Given the description of an element on the screen output the (x, y) to click on. 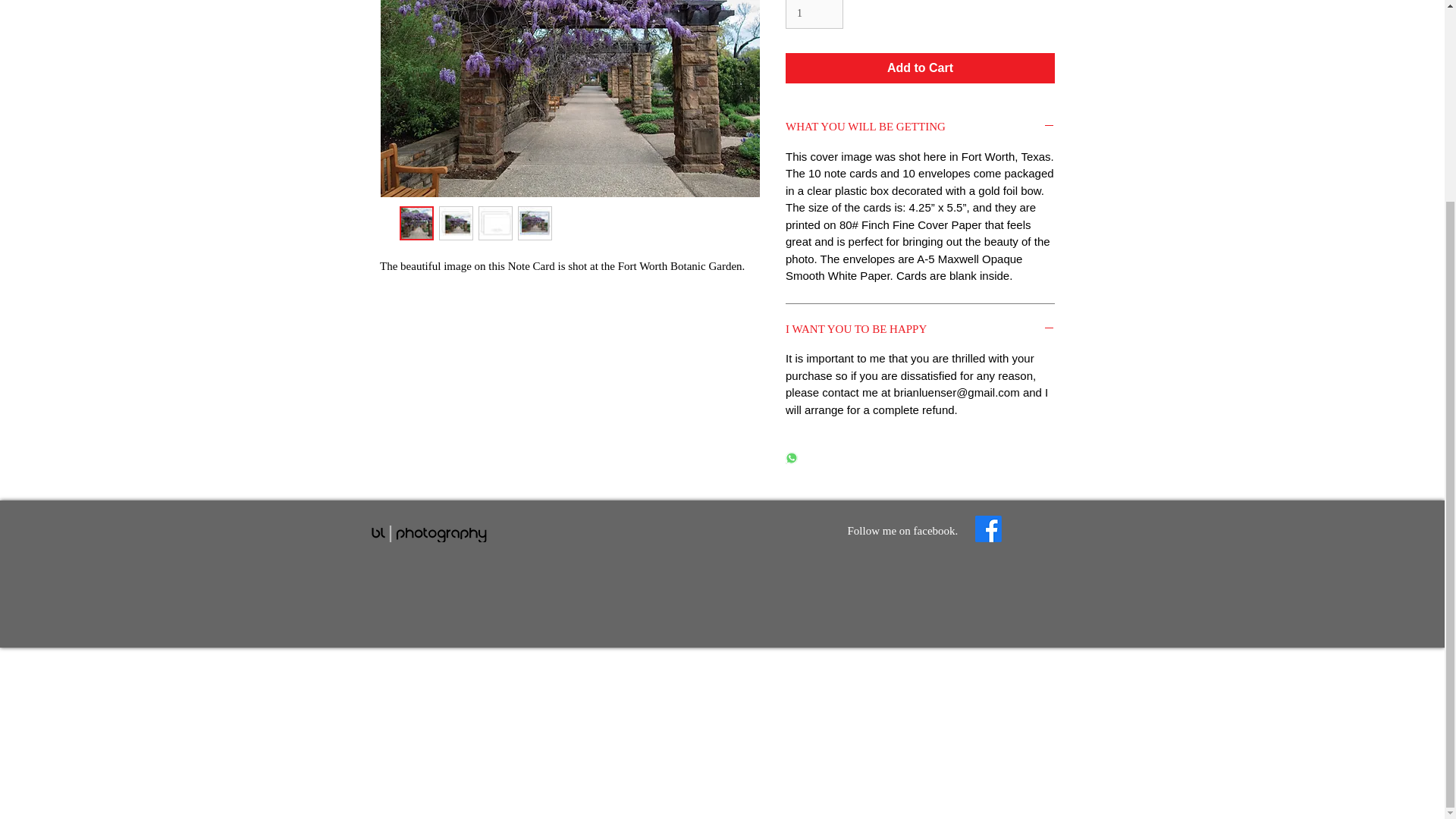
Add to Cart (920, 68)
Follow me on facebook. (902, 530)
I WANT YOU TO BE HAPPY (920, 330)
WHAT YOU WILL BE GETTING (920, 127)
1 (814, 14)
